Given the description of an element on the screen output the (x, y) to click on. 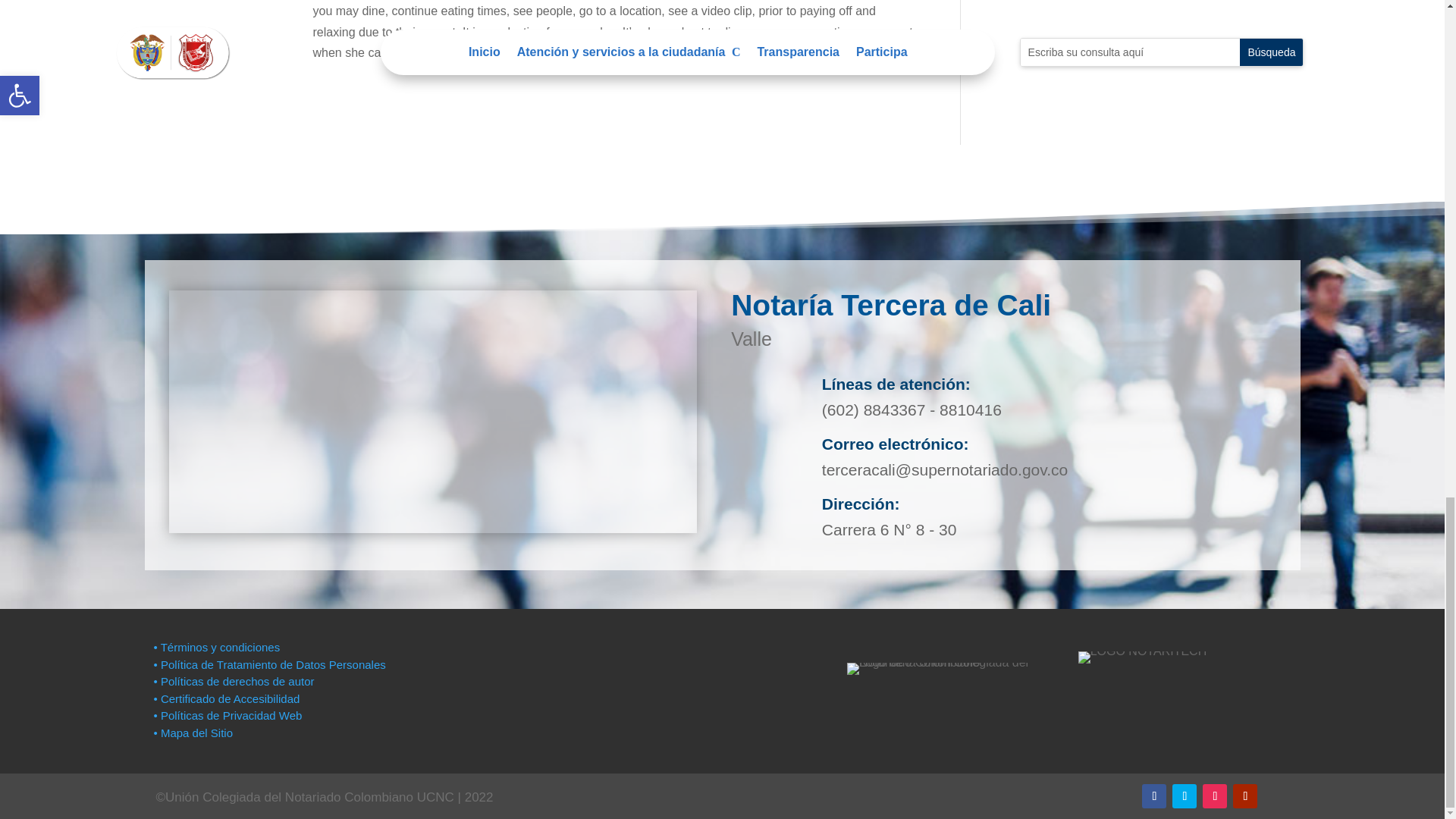
Certificado de Accesibilidad (225, 698)
Seguir en Instagram (1214, 795)
Seguir en Youtube (1245, 795)
Seguir en Facebook (1153, 795)
Mapa del Sitio (193, 732)
Seguir en Twitter (1184, 795)
